Given the description of an element on the screen output the (x, y) to click on. 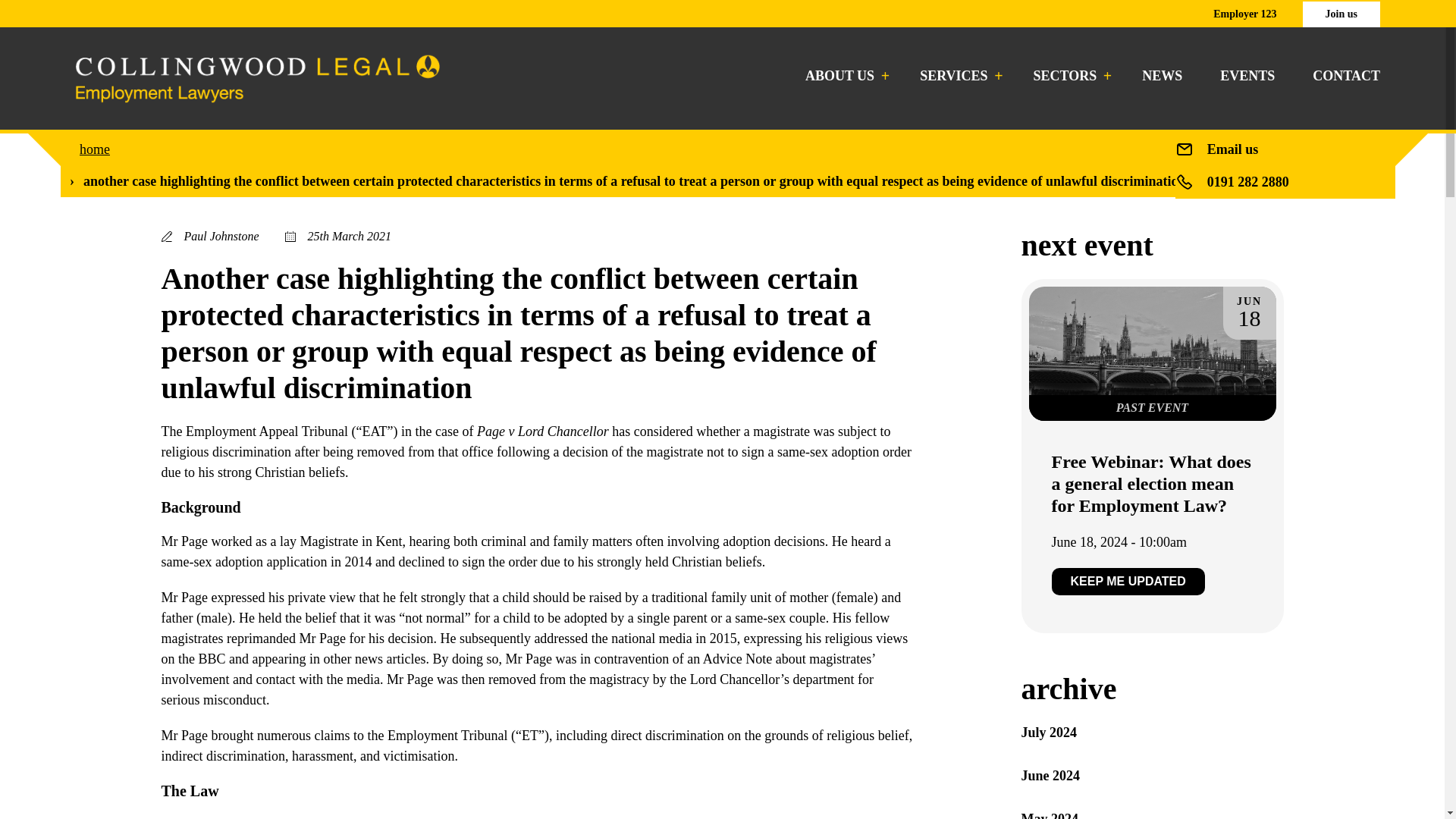
Email us (1233, 149)
NEWS (1161, 75)
Employer 123 (1244, 13)
Join us (1340, 13)
SECTORS (1069, 75)
0191 282 2880 (1247, 181)
home (95, 149)
SERVICES (957, 75)
CONTACT (1346, 75)
ABOUT US (843, 75)
EVENTS (1247, 75)
